Given the description of an element on the screen output the (x, y) to click on. 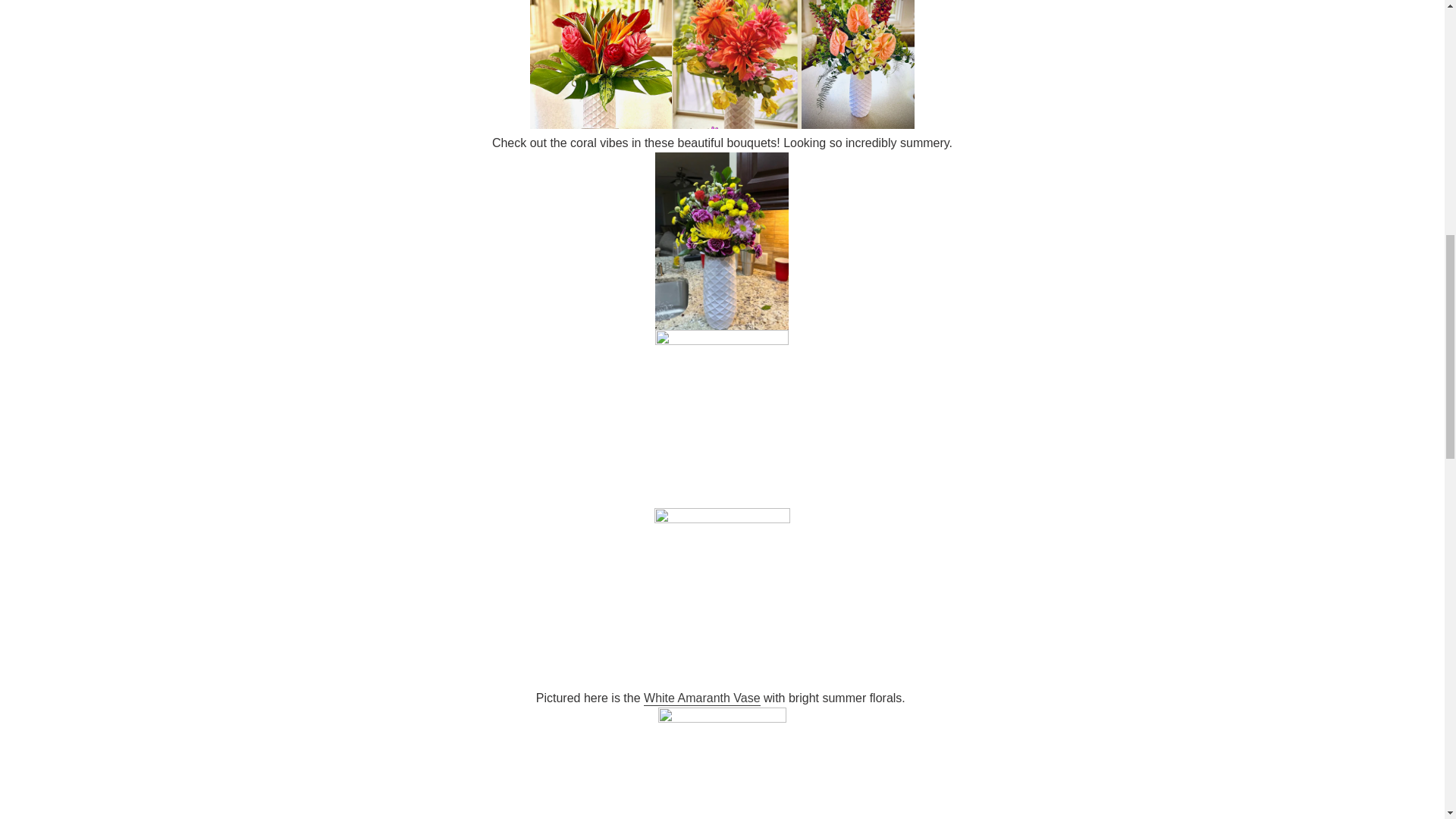
White Amaranth Vase (701, 698)
White Amaranth Vase (701, 698)
